Given the description of an element on the screen output the (x, y) to click on. 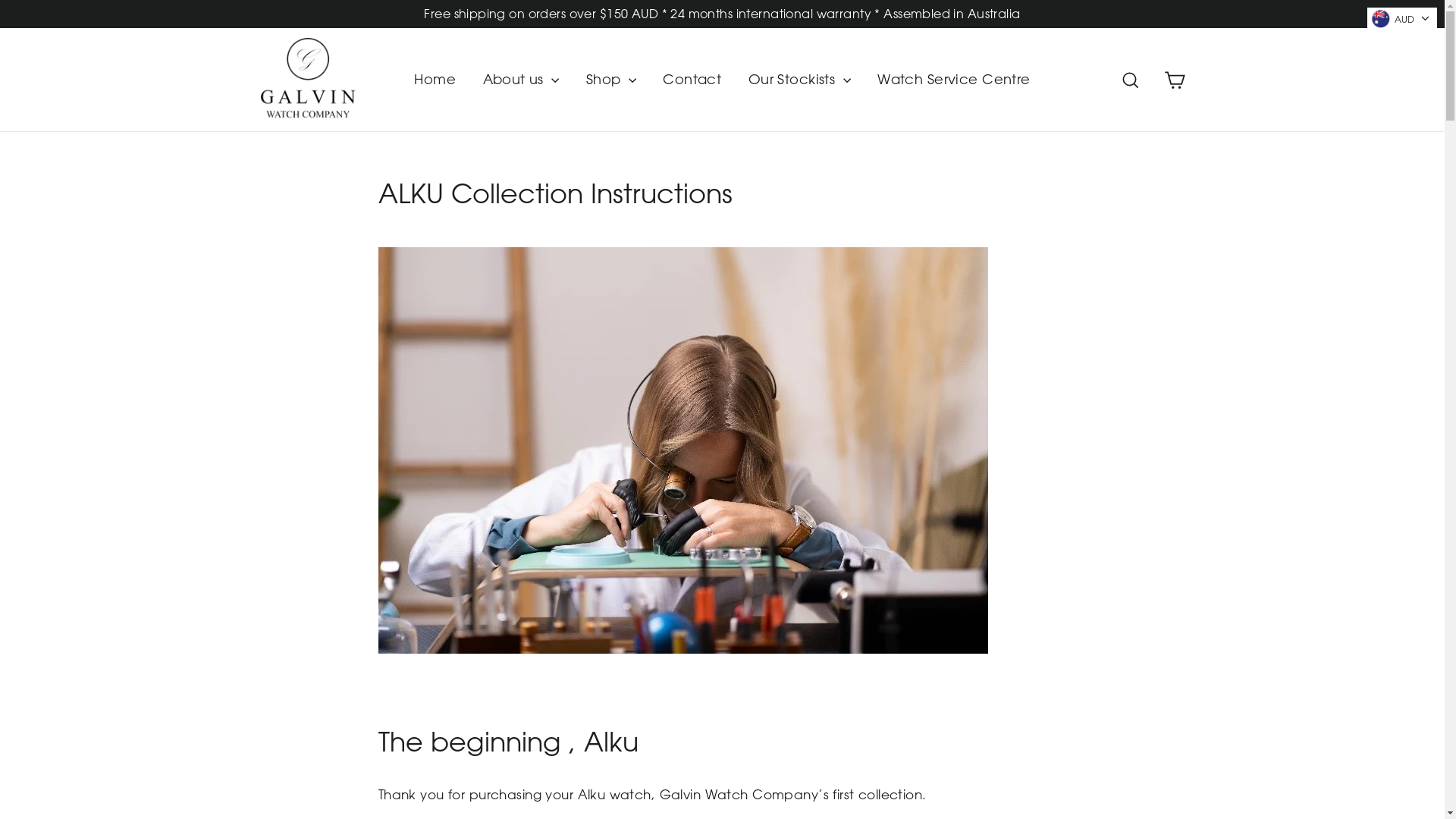
Cart Element type: text (1173, 79)
Search Element type: text (1130, 79)
About us Element type: text (521, 79)
Shop Element type: text (610, 79)
Contact Element type: text (691, 79)
Watch Service Centre Element type: text (953, 79)
Skip to content Element type: text (0, 0)
Home Element type: text (434, 79)
Our Stockists Element type: text (799, 79)
